Given the description of an element on the screen output the (x, y) to click on. 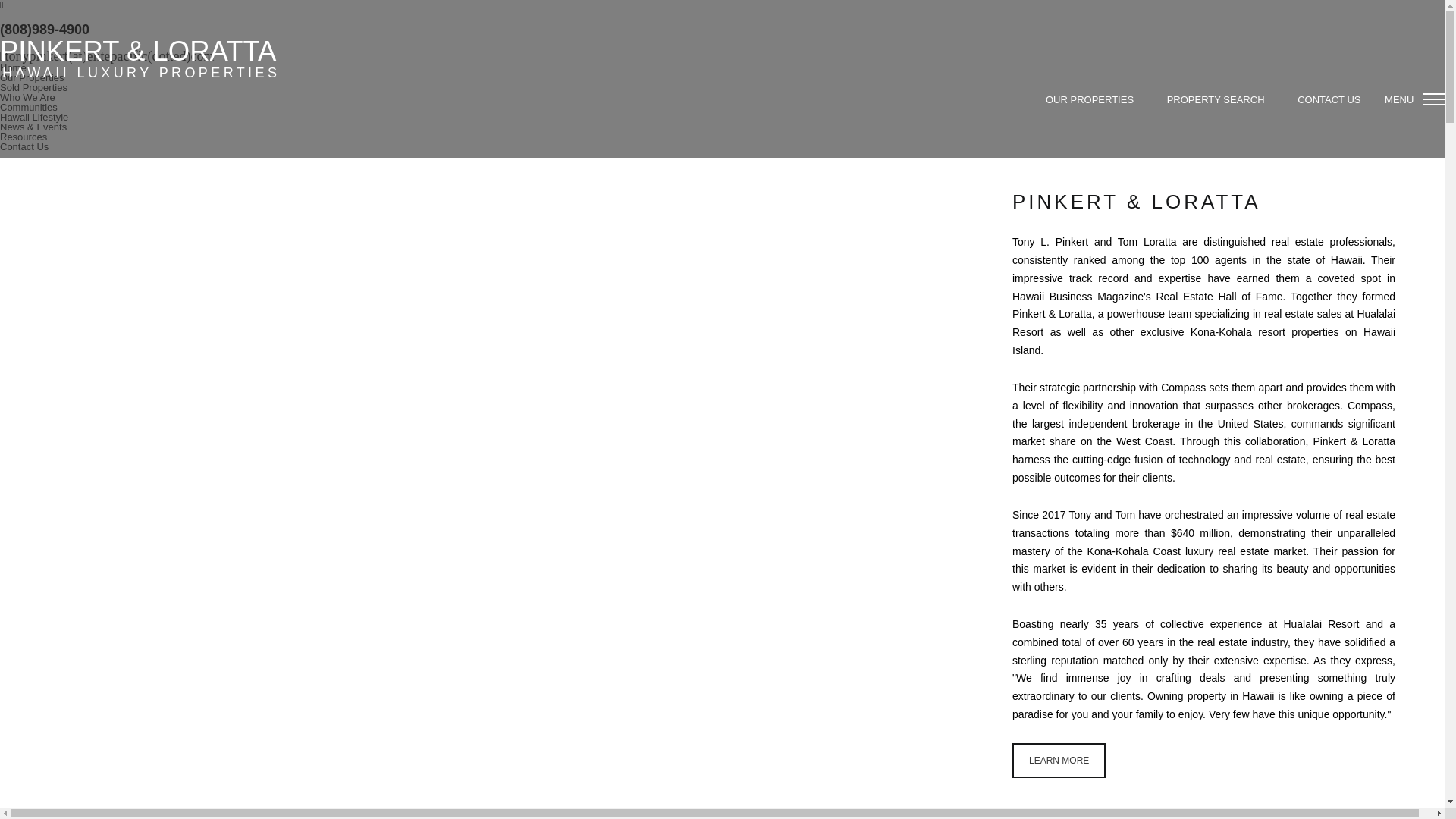
Home (13, 67)
OUR PROPERTIES (1089, 98)
CONTACT US (1328, 98)
Hawaii Lifestyle (34, 116)
Who We Are (27, 97)
Contact Us (24, 146)
PROPERTY SEARCH (1215, 98)
Communities (29, 107)
Sold Properties (33, 87)
Our Properties (32, 77)
Resources (23, 136)
